Given the description of an element on the screen output the (x, y) to click on. 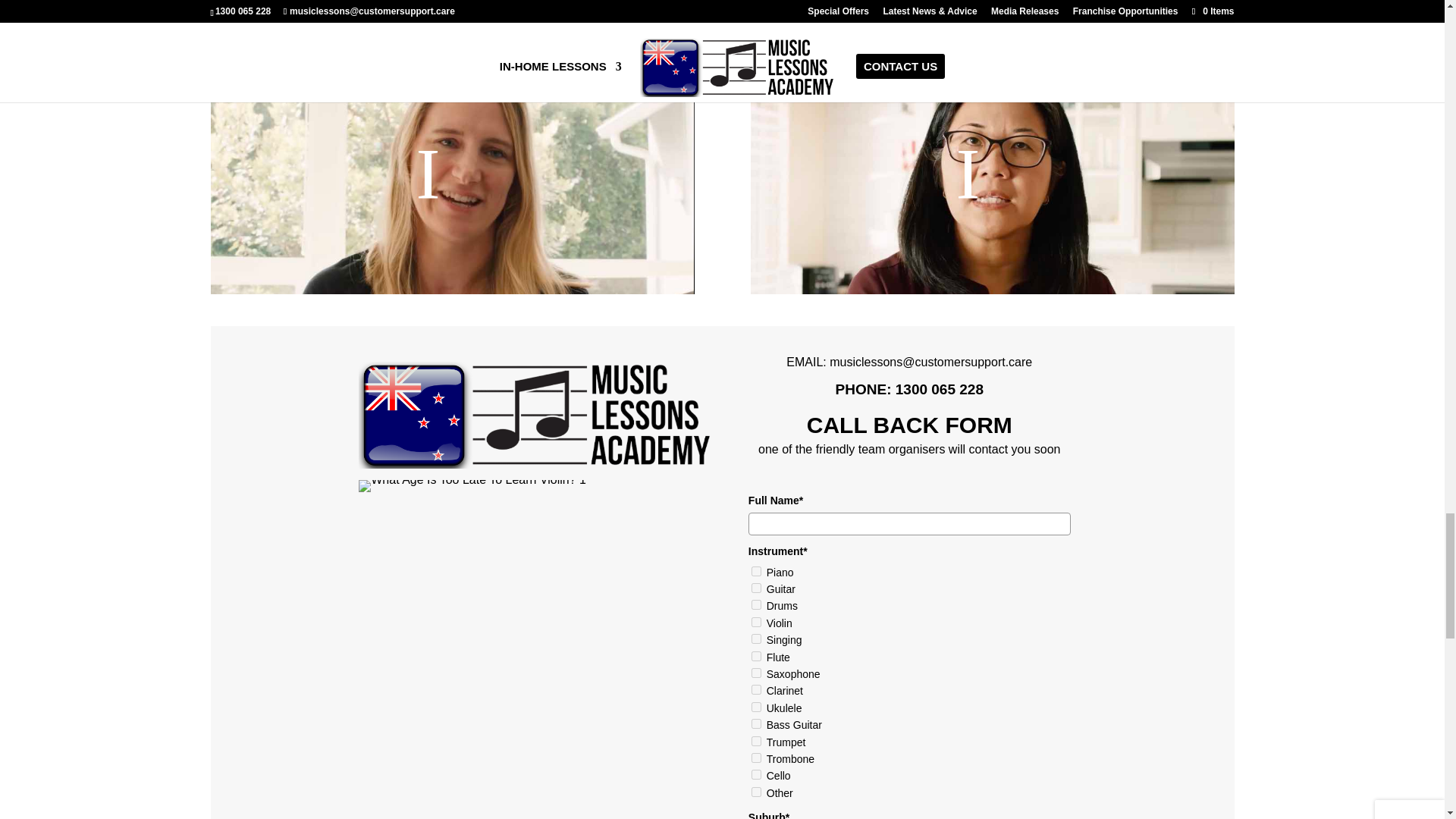
Clarinet (756, 689)
Bass Guitar (756, 723)
Ukulele (756, 706)
Guitar (756, 587)
Trumpet (756, 740)
Trombone (756, 757)
Piano (756, 571)
Cello (756, 774)
Violin (756, 622)
Flute (756, 655)
Drums (756, 604)
Saxophone (756, 673)
Other (756, 791)
Singing (756, 638)
